Given the description of an element on the screen output the (x, y) to click on. 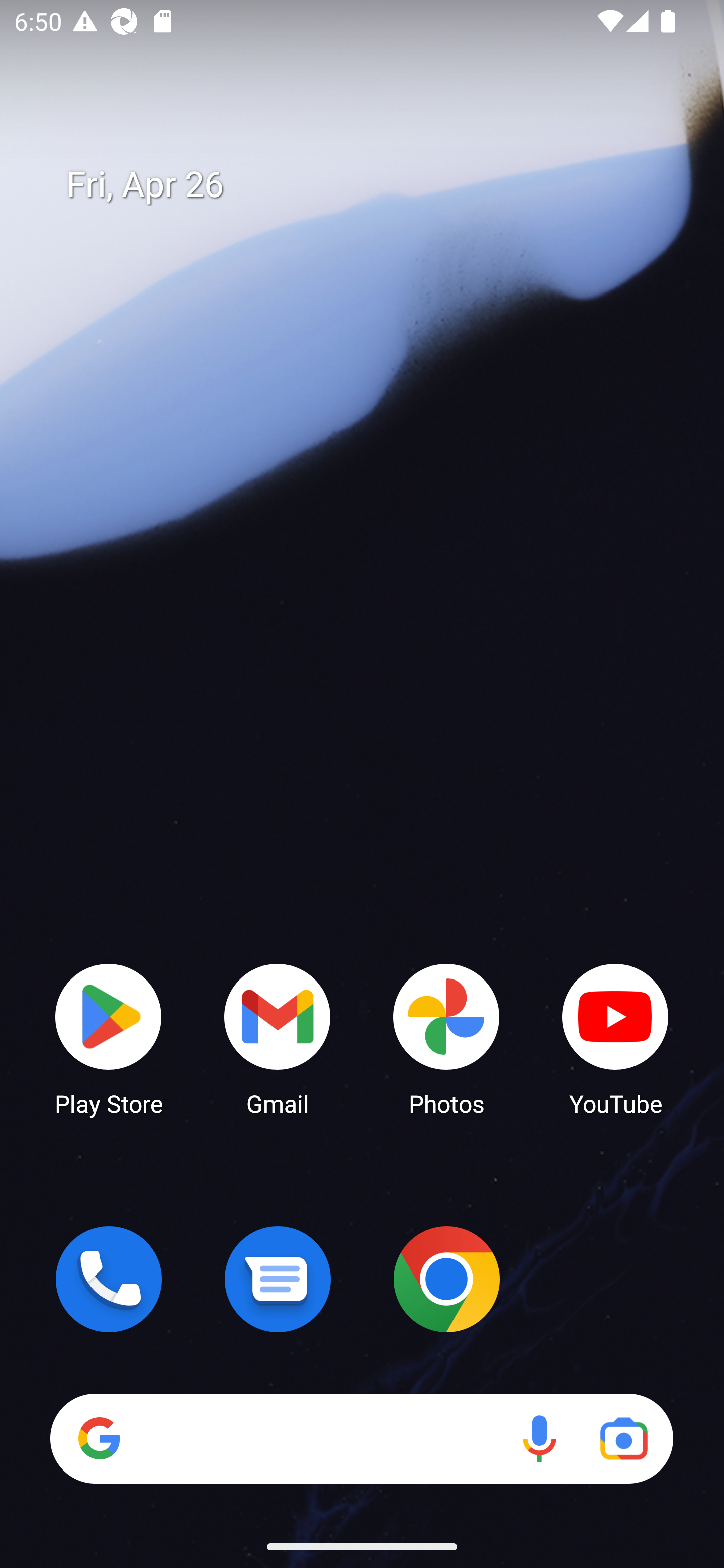
Fri, Apr 26 (375, 184)
Play Store (108, 1038)
Gmail (277, 1038)
Photos (445, 1038)
YouTube (615, 1038)
Phone (108, 1279)
Messages (277, 1279)
Chrome (446, 1279)
Search Voice search Google Lens (361, 1438)
Voice search (539, 1438)
Google Lens (623, 1438)
